Given the description of an element on the screen output the (x, y) to click on. 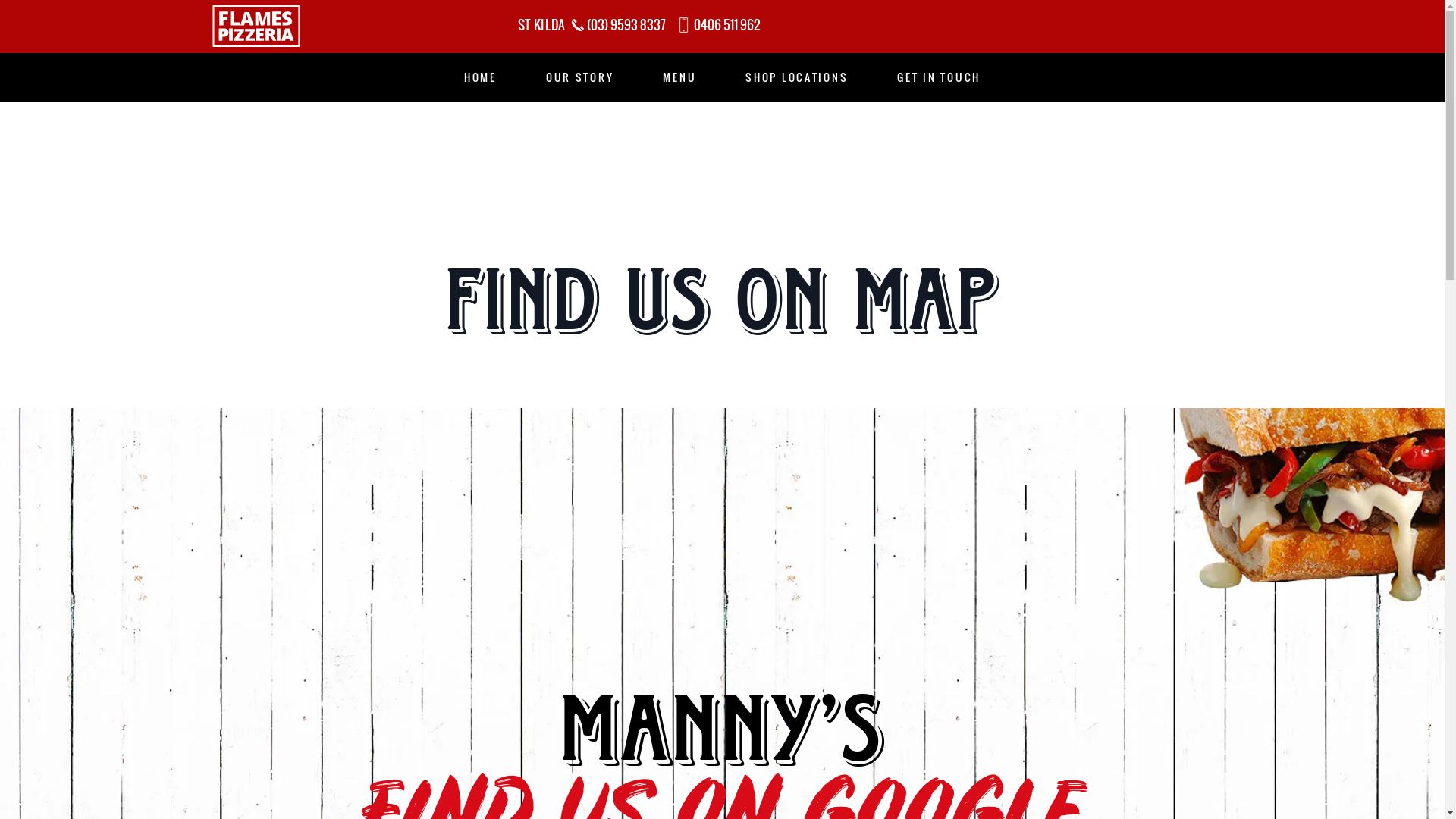
FLAMES PIZZERIA Element type: text (255, 29)
0406 511 962 Element type: text (722, 24)
GET IN TOUCH Element type: text (938, 77)
Skip to main content Element type: text (0, 0)
SHOP LOCATIONS Element type: text (796, 77)
HOME Element type: text (480, 77)
OUR STORY Element type: text (579, 77)
(03) 9593 8337 Element type: text (622, 24)
MENU Element type: text (679, 77)
